Given the description of an element on the screen output the (x, y) to click on. 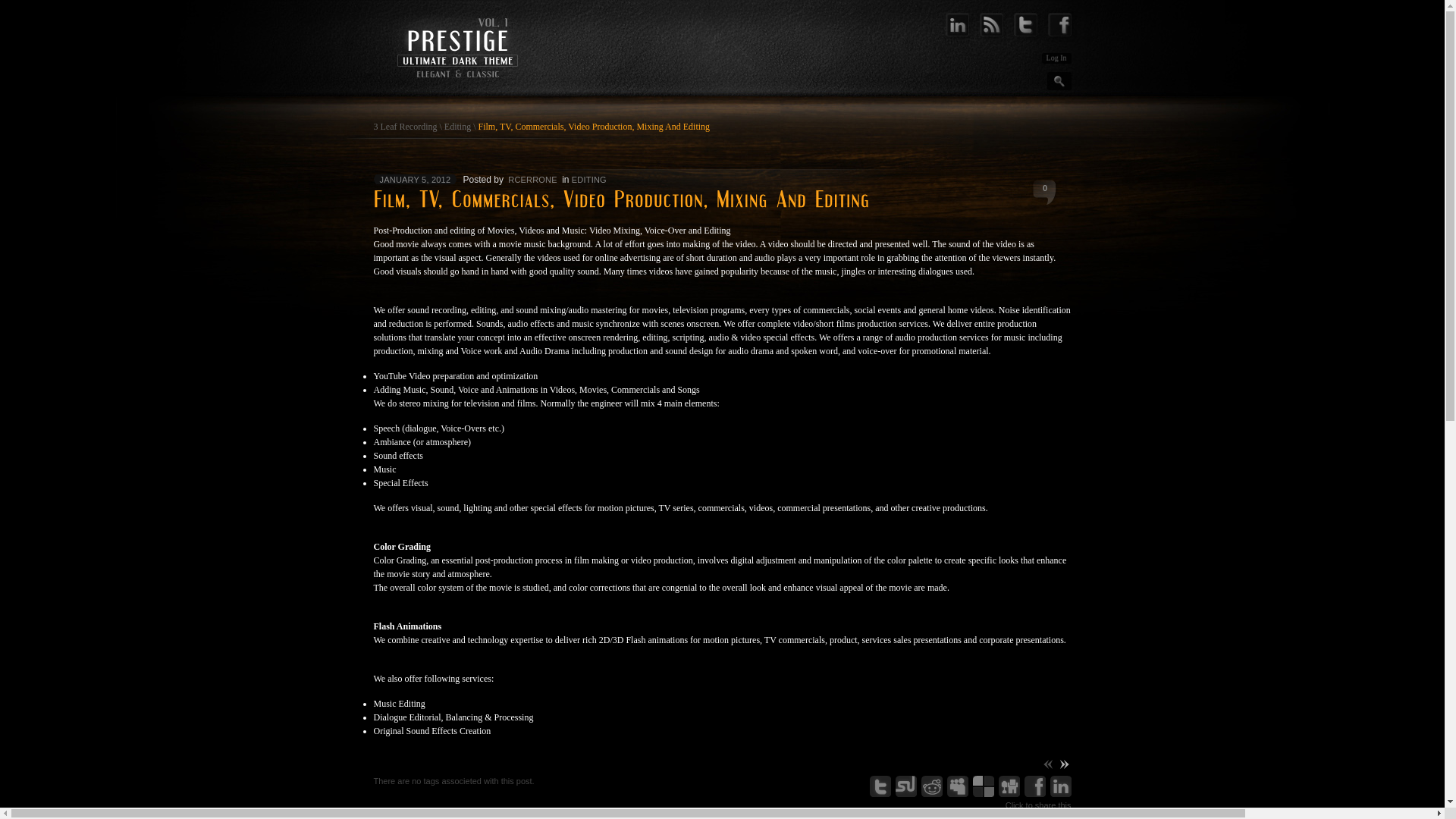
0 Element type: text (1033, 191)
Newer Element type: hover (1062, 763)
EDITING Element type: text (588, 179)
3 Leaf Recording Element type: text (404, 126)
JANUARY 5, 2012 Element type: text (415, 179)
Film, TV, Commercials, Video Production, Mixing And Editing Element type: text (593, 126)
RCERRONE Element type: text (532, 179)
Editing Element type: text (457, 126)
